Given the description of an element on the screen output the (x, y) to click on. 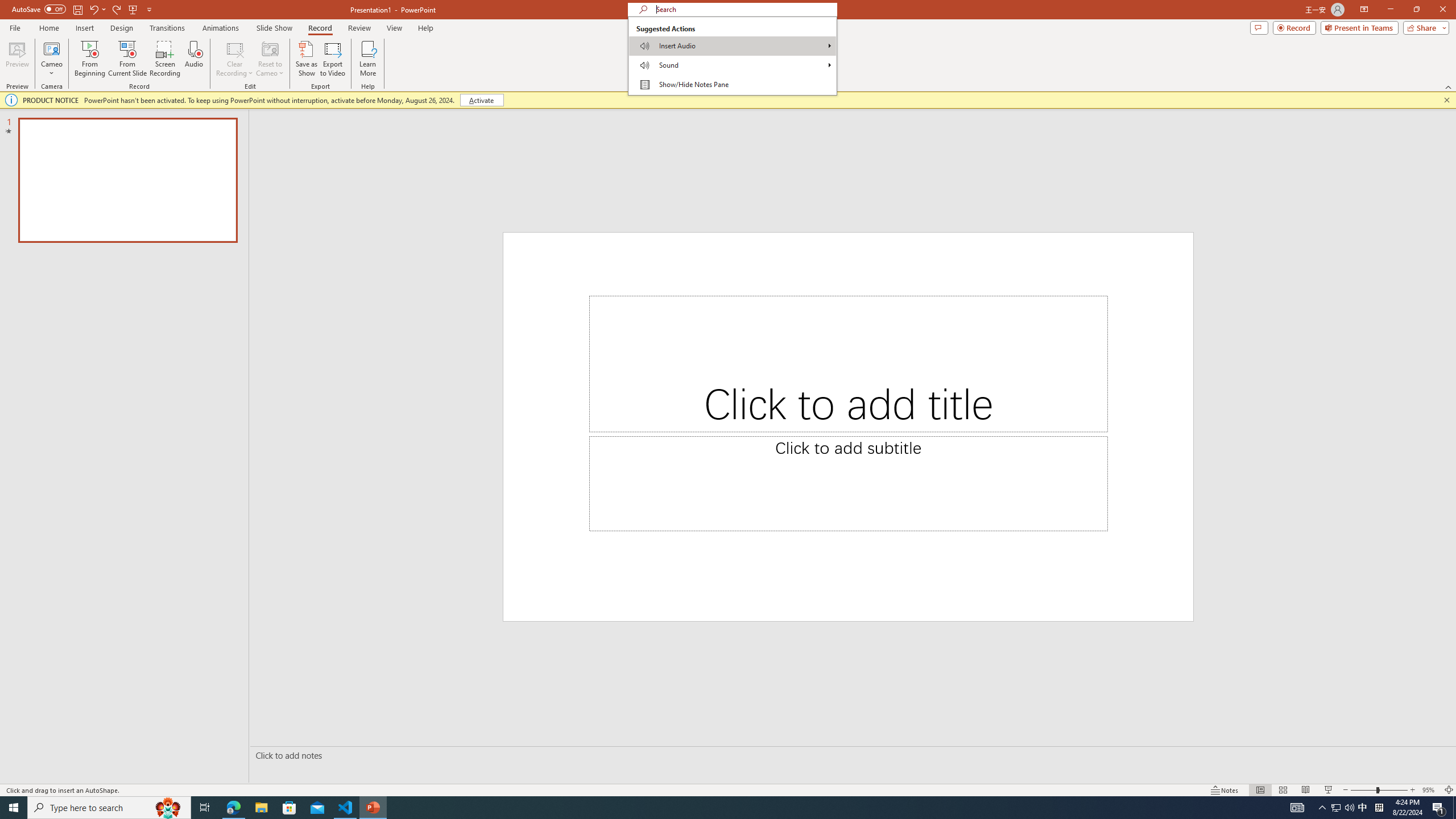
Insert Audio (731, 45)
